Given the description of an element on the screen output the (x, y) to click on. 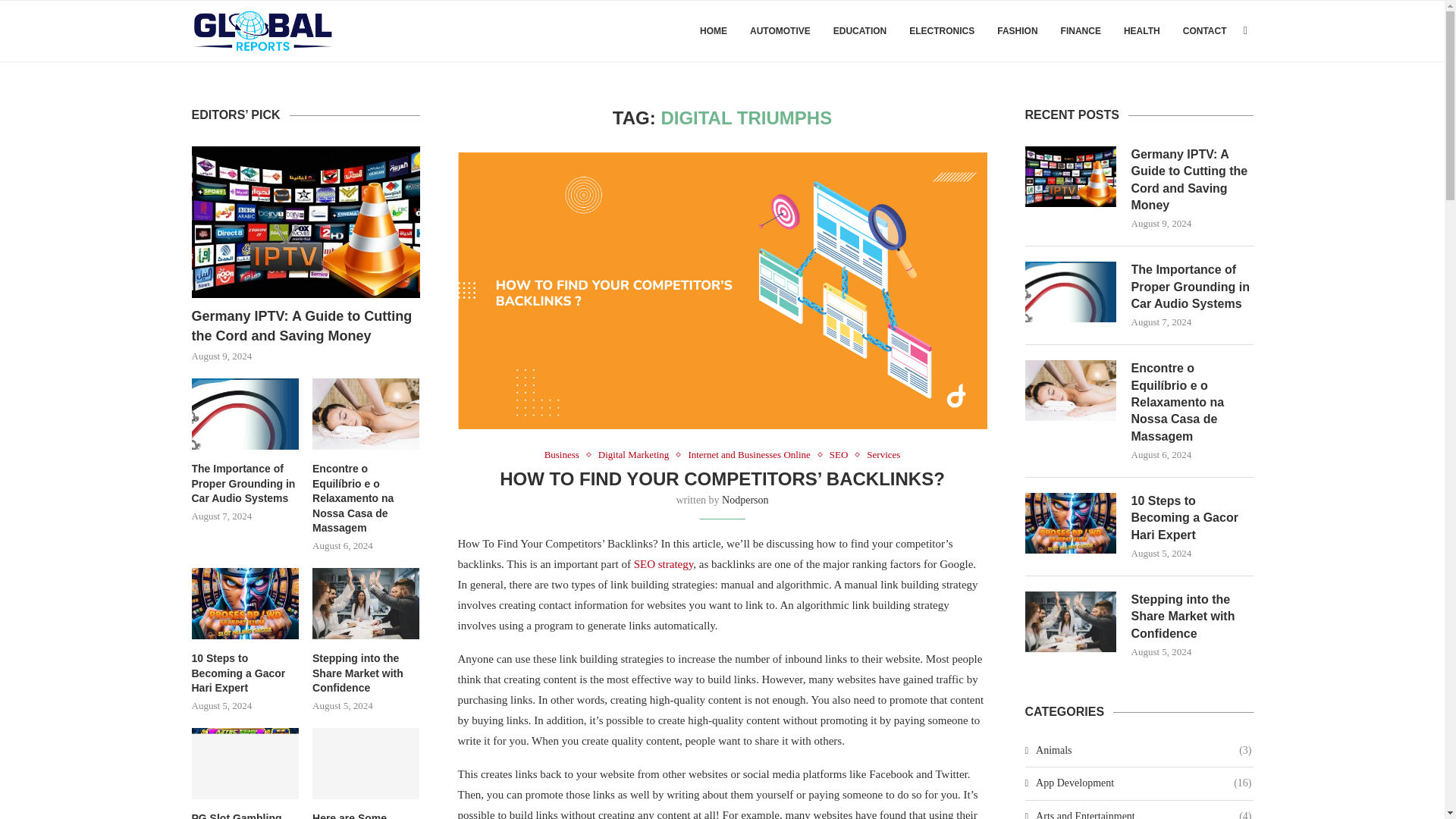
Nodperson (745, 500)
Stepping into the Share Market with Confidence (1192, 616)
Internet and Businesses Online (751, 454)
Germany IPTV: A Guide to Cutting the Cord and Saving Money (304, 222)
Digital Marketing (637, 454)
AUTOMOTIVE (779, 30)
Germany IPTV: A Guide to Cutting the Cord and Saving Money (1192, 180)
Germany IPTV: A Guide to Cutting the Cord and Saving Money (1192, 180)
Business (565, 454)
The Importance of Proper Grounding in Car Audio Systems (1192, 286)
